Given the description of an element on the screen output the (x, y) to click on. 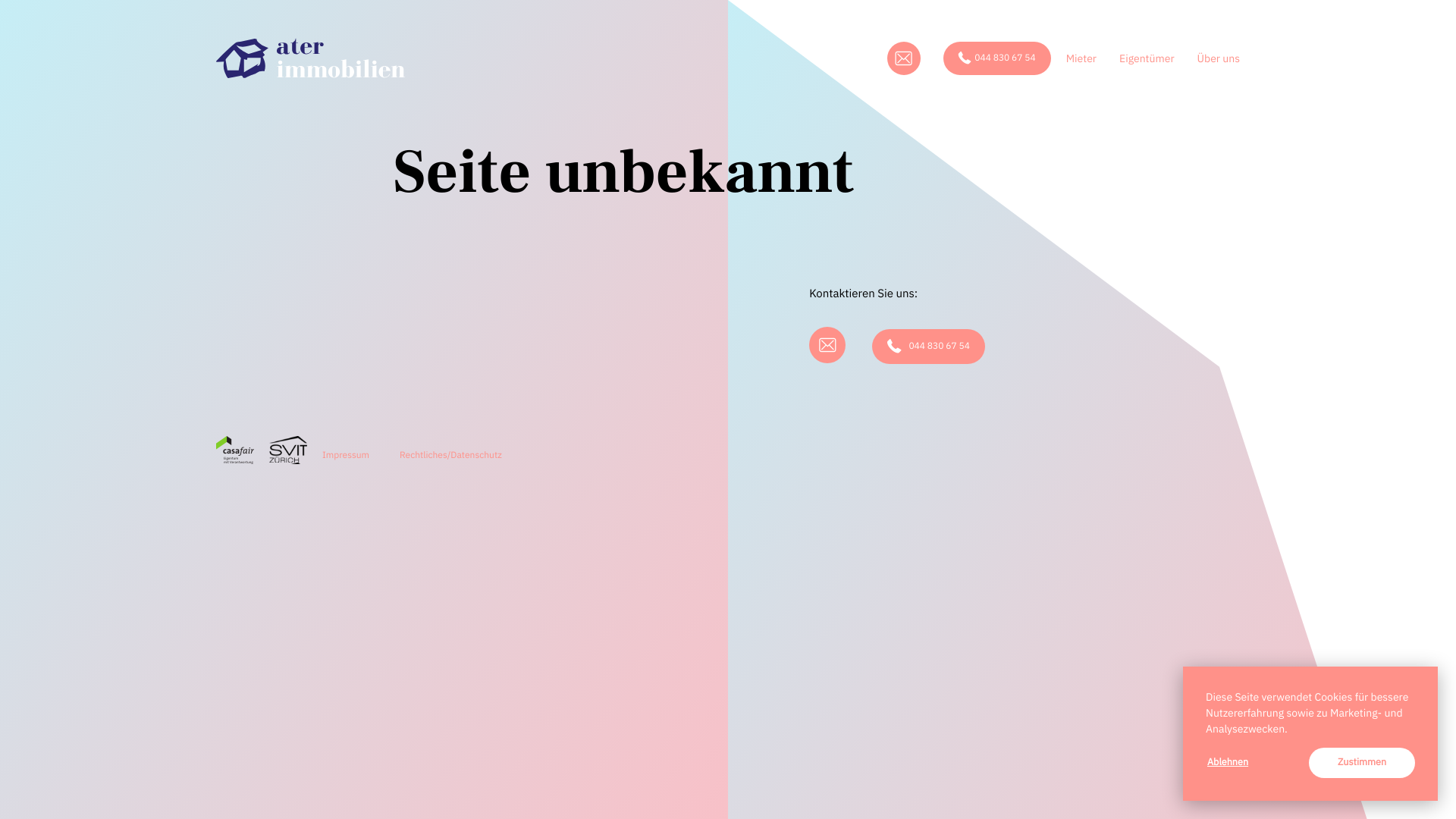
Rechtliches/Datenschutz Element type: text (450, 450)
Ablehnen Element type: text (1254, 762)
Impressum Element type: text (345, 450)
044 830 67 54 Element type: text (928, 346)
Zustimmen Element type: text (1361, 762)
044 830 67 54 Element type: text (997, 57)
Mieter Element type: text (1081, 58)
